Given the description of an element on the screen output the (x, y) to click on. 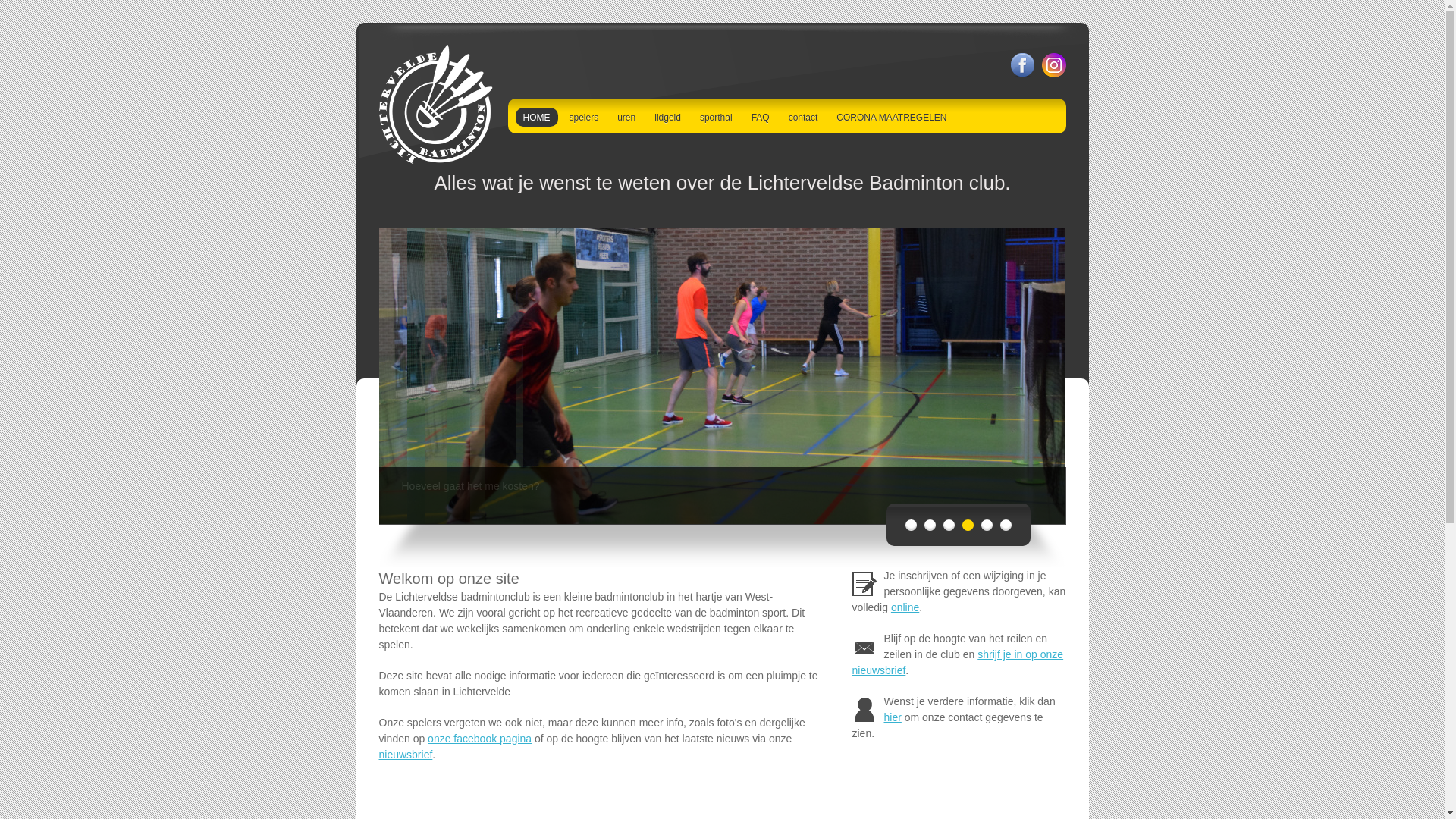
Follow our pics Element type: hover (1053, 65)
1 Element type: text (910, 524)
mail32.png Element type: hover (864, 646)
linedpaperpencil32.png Element type: hover (864, 583)
CORONA MAATREGELEN Element type: text (890, 116)
sporthal Element type: text (716, 116)
uren Element type: text (626, 116)
3 Element type: text (948, 524)
online Element type: text (905, 607)
lidgeld Element type: text (667, 116)
nieuwsbrief Element type: text (406, 754)
Become a fan Element type: hover (1022, 65)
hier Element type: text (892, 717)
shrijf je in op onze nieuwsbrief Element type: text (957, 662)
user32.png Element type: hover (864, 709)
HOME Element type: text (536, 116)
6 Element type: text (1004, 524)
spelers Element type: text (583, 116)
5 Element type: text (986, 524)
FAQ Element type: text (760, 116)
4 Element type: text (966, 524)
contact Element type: text (803, 116)
onze facebook pagina Element type: text (479, 738)
2 Element type: text (929, 524)
